Given the description of an element on the screen output the (x, y) to click on. 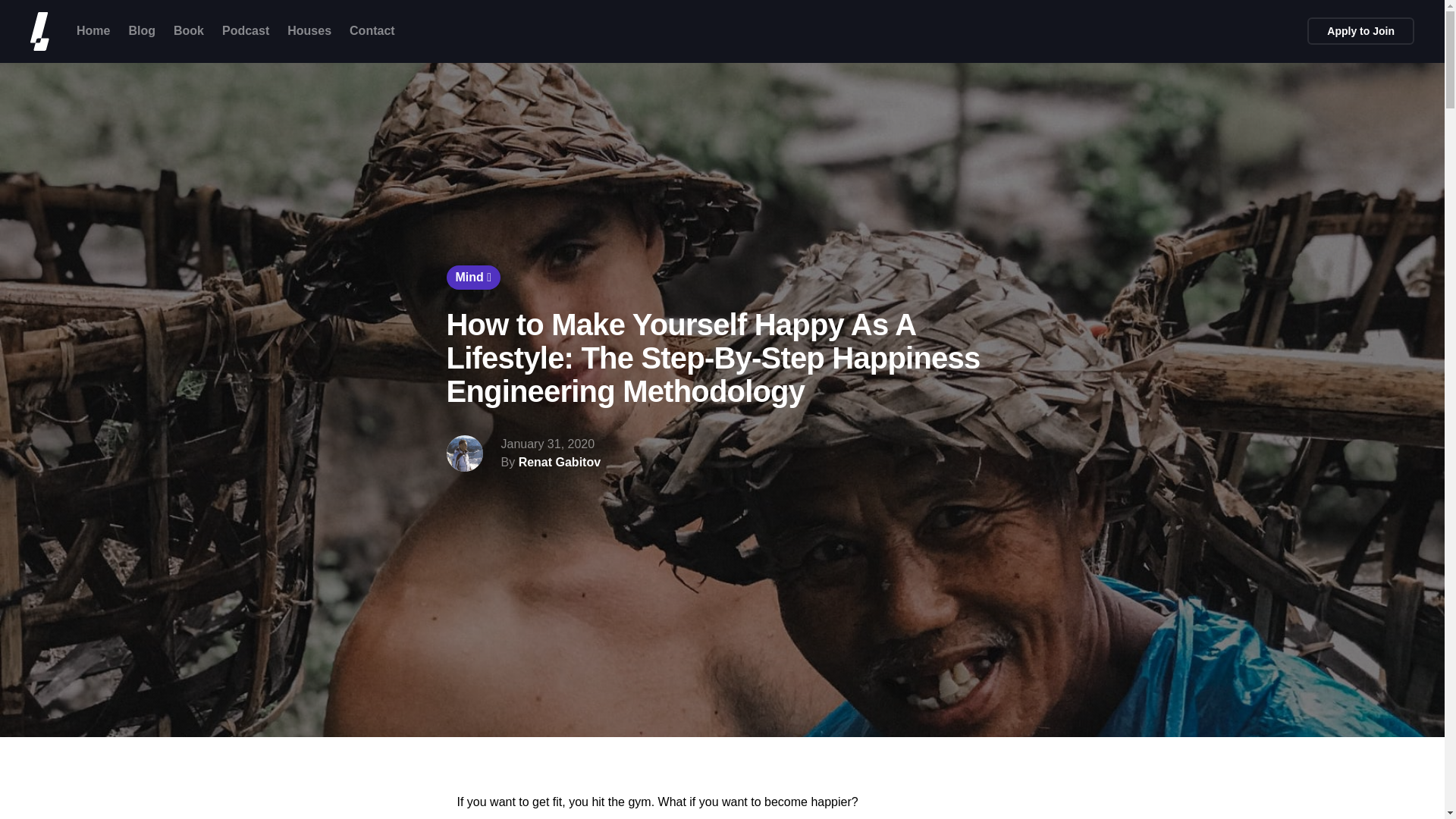
Home (93, 31)
Renat Gabitov (558, 462)
Book (188, 31)
Podcast (245, 31)
Houses (308, 31)
Contact (371, 31)
Blog (141, 31)
Apply to Join (1360, 31)
